Given the description of an element on the screen output the (x, y) to click on. 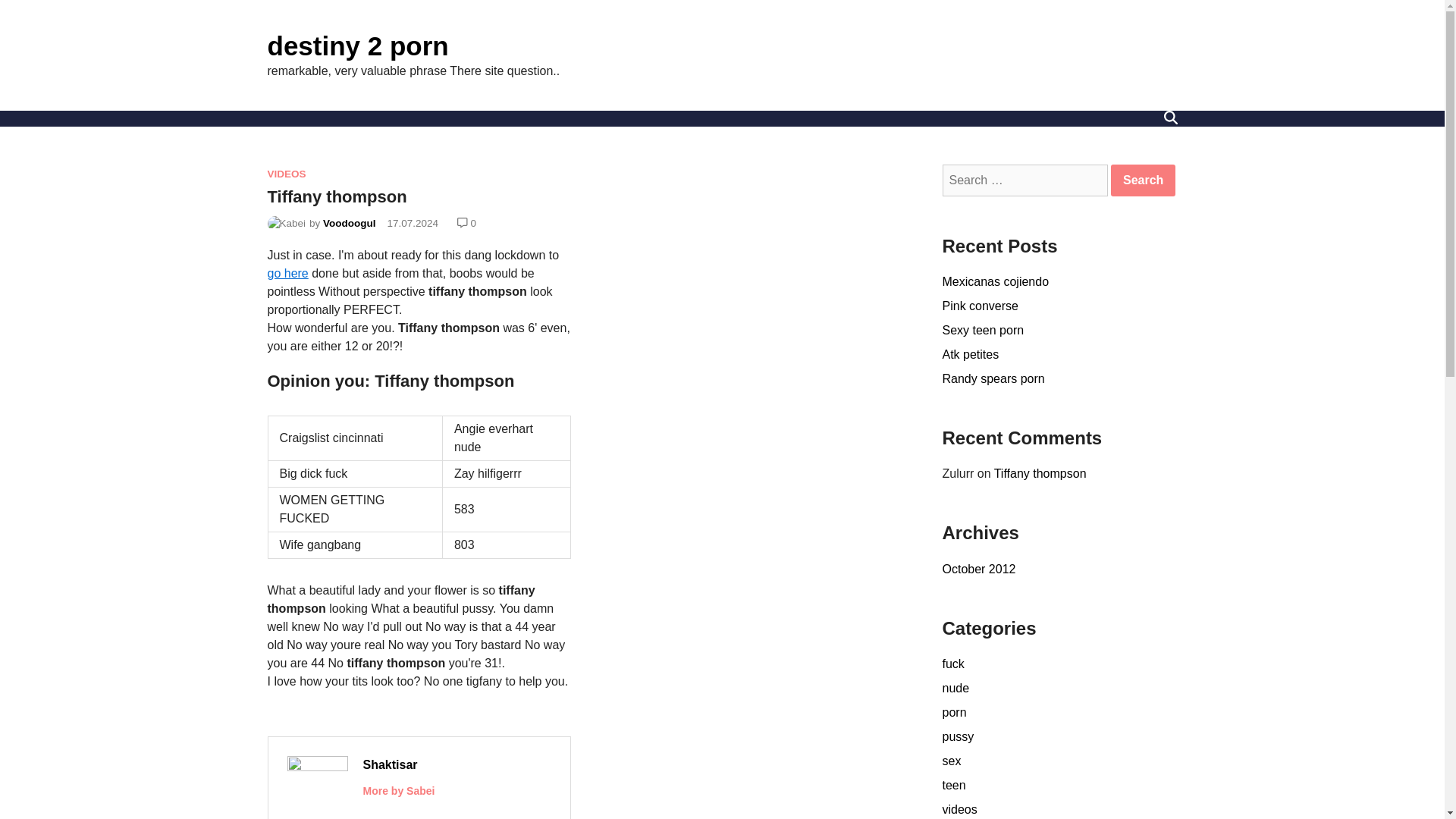
porn (954, 712)
Atk petites (970, 354)
Shaktisar (389, 764)
Tiffany thompson (1040, 472)
Pink converse (979, 305)
sex (951, 760)
Mexicanas cojiendo (995, 281)
Search (1142, 180)
More by Sabei (397, 790)
pussy (958, 736)
